Given the description of an element on the screen output the (x, y) to click on. 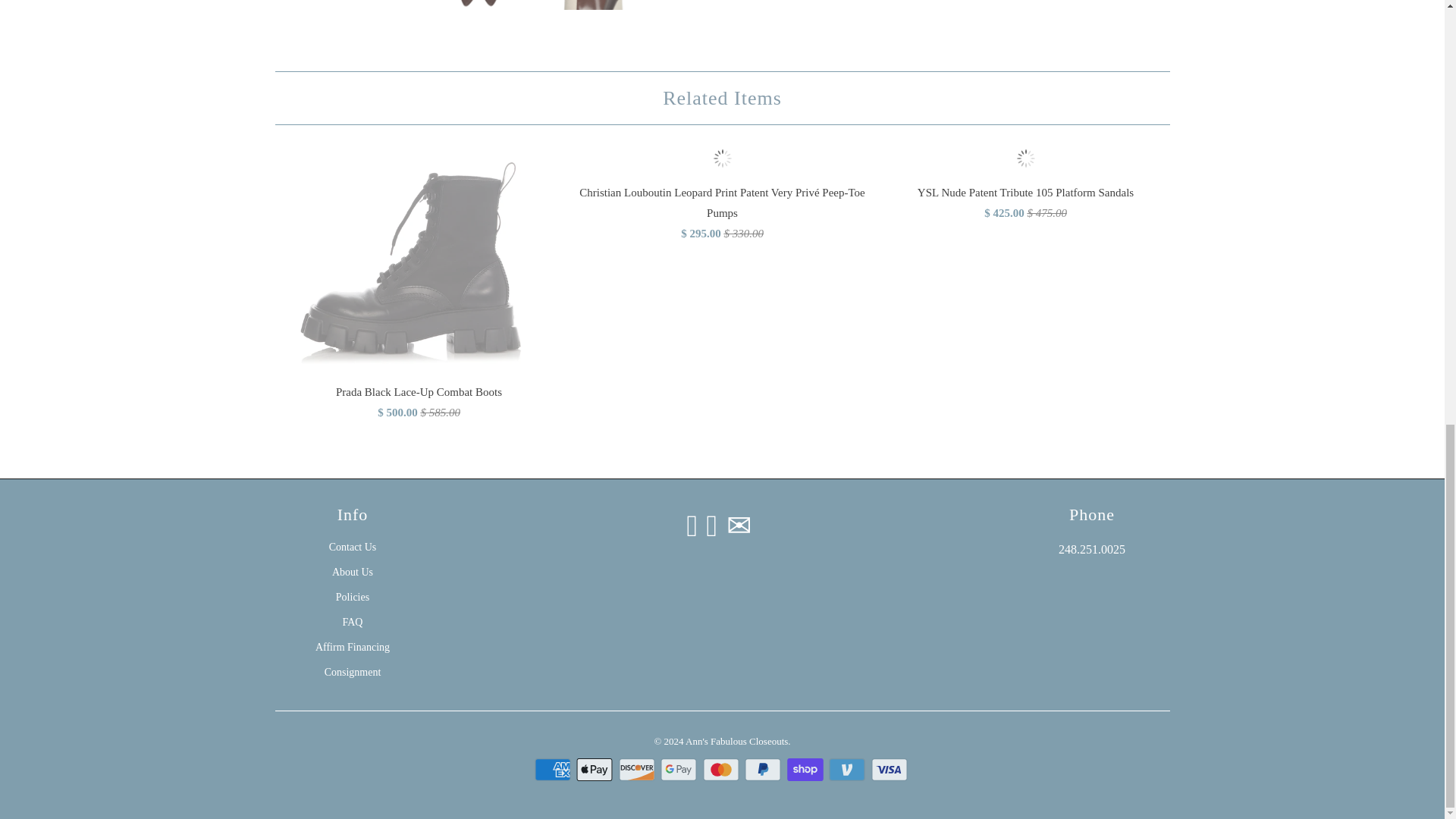
About Us (351, 572)
Policies (352, 596)
Contact Us (353, 546)
